Given the description of an element on the screen output the (x, y) to click on. 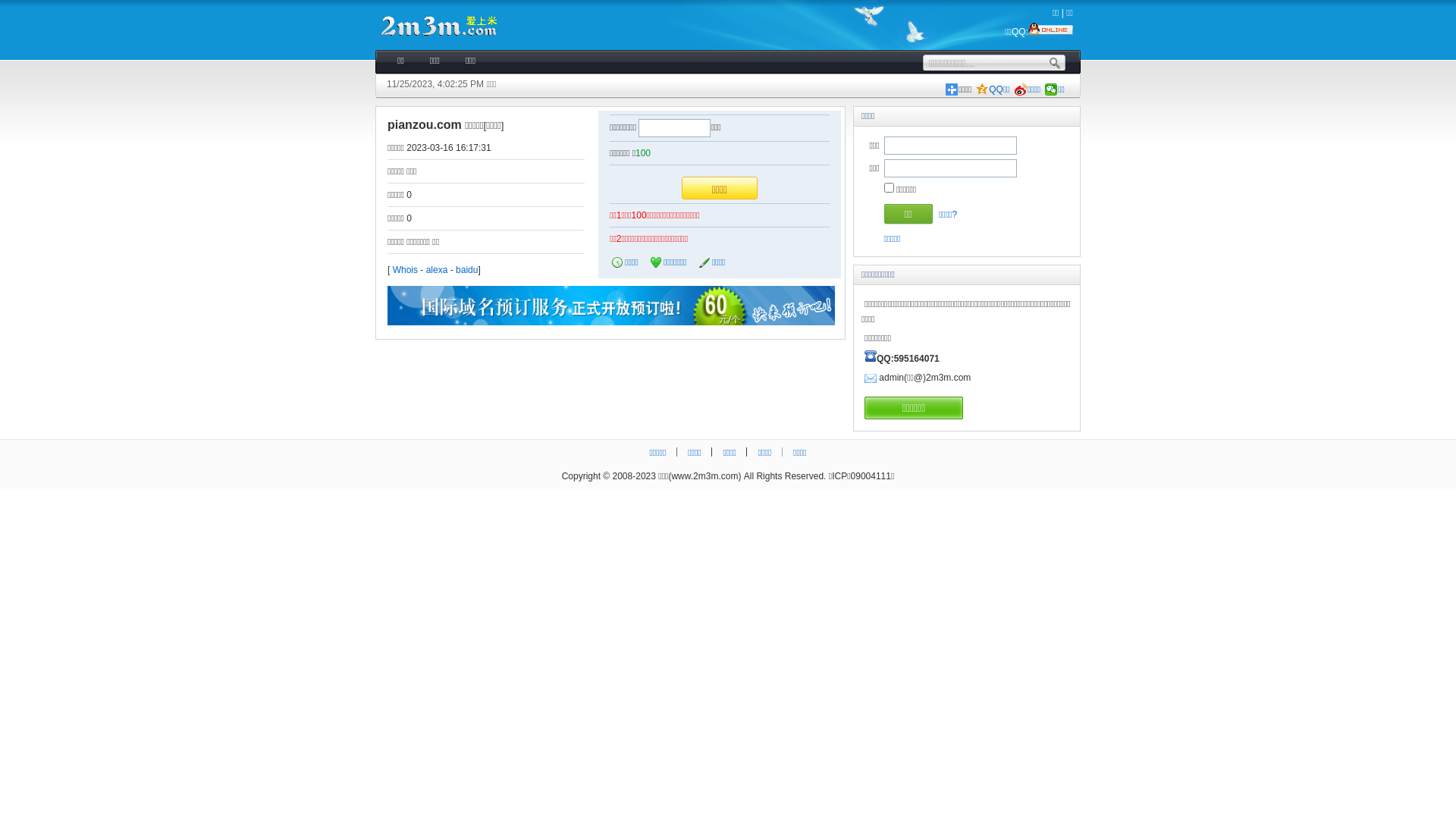
baidu Element type: text (466, 269)
Whois Element type: text (404, 269)
. Element type: text (1053, 61)
alexa Element type: text (437, 269)
